Given the description of an element on the screen output the (x, y) to click on. 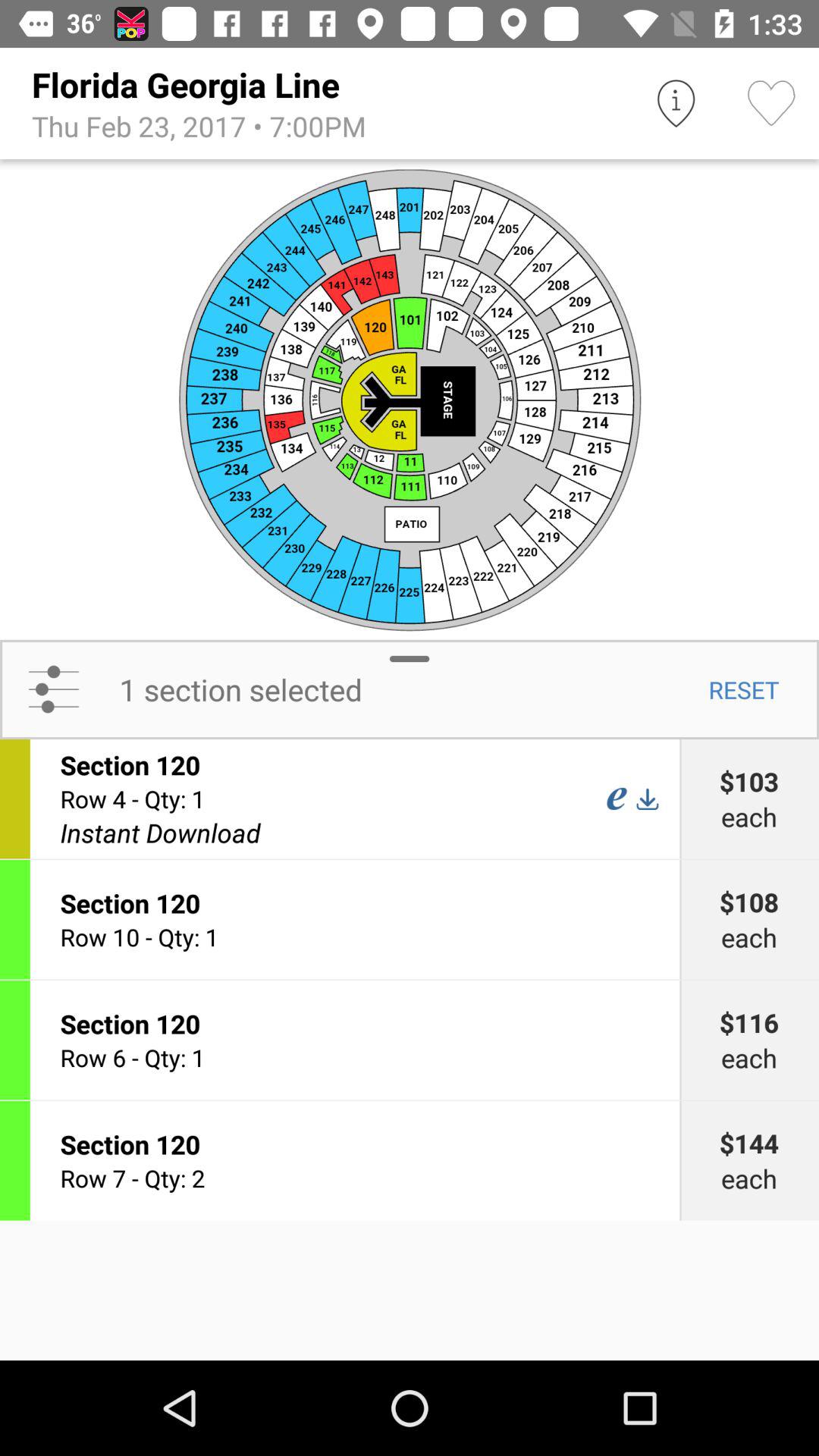
select the item next to the 1 section selected (743, 689)
